Given the description of an element on the screen output the (x, y) to click on. 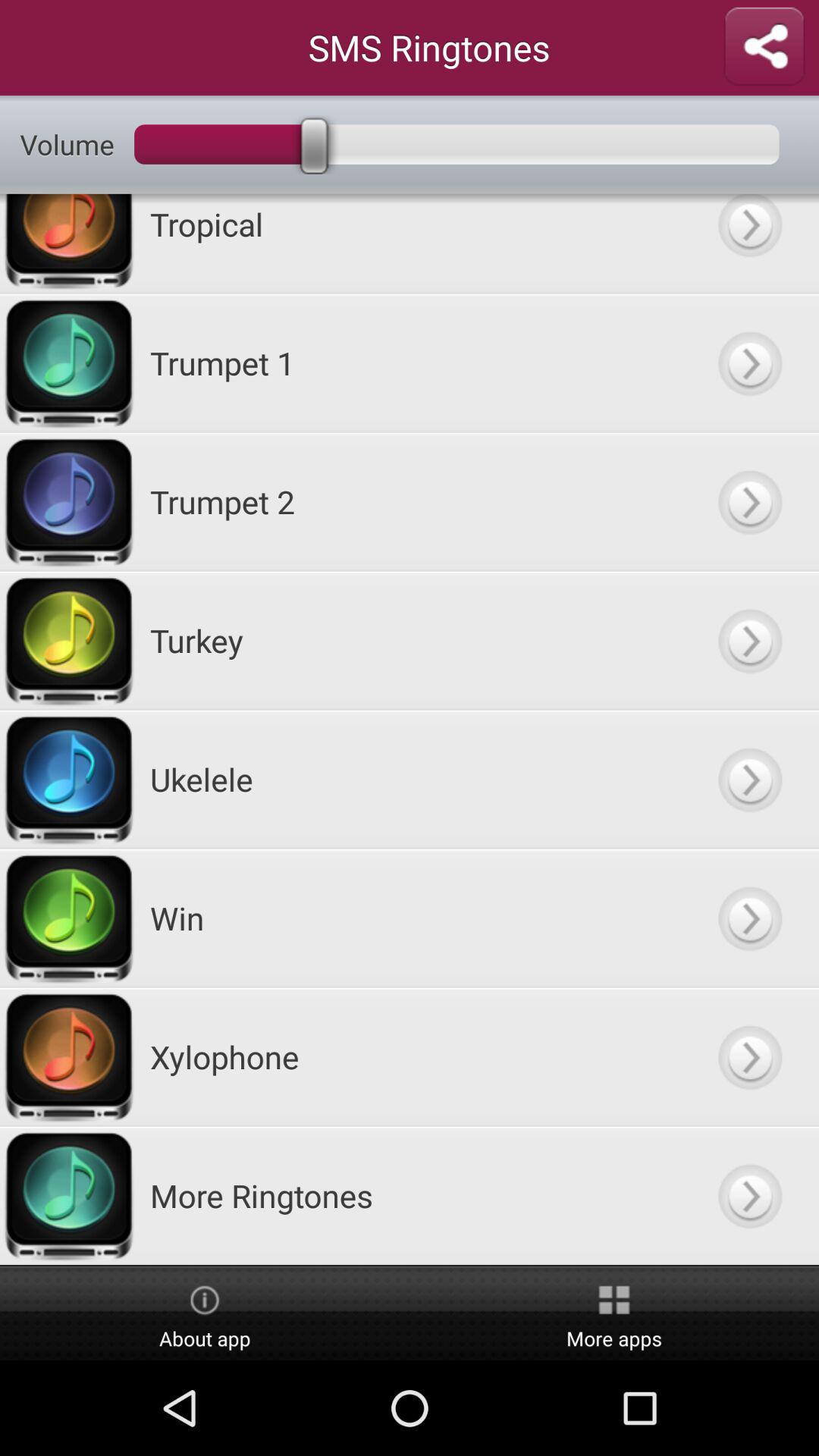
for word (749, 1056)
